Given the description of an element on the screen output the (x, y) to click on. 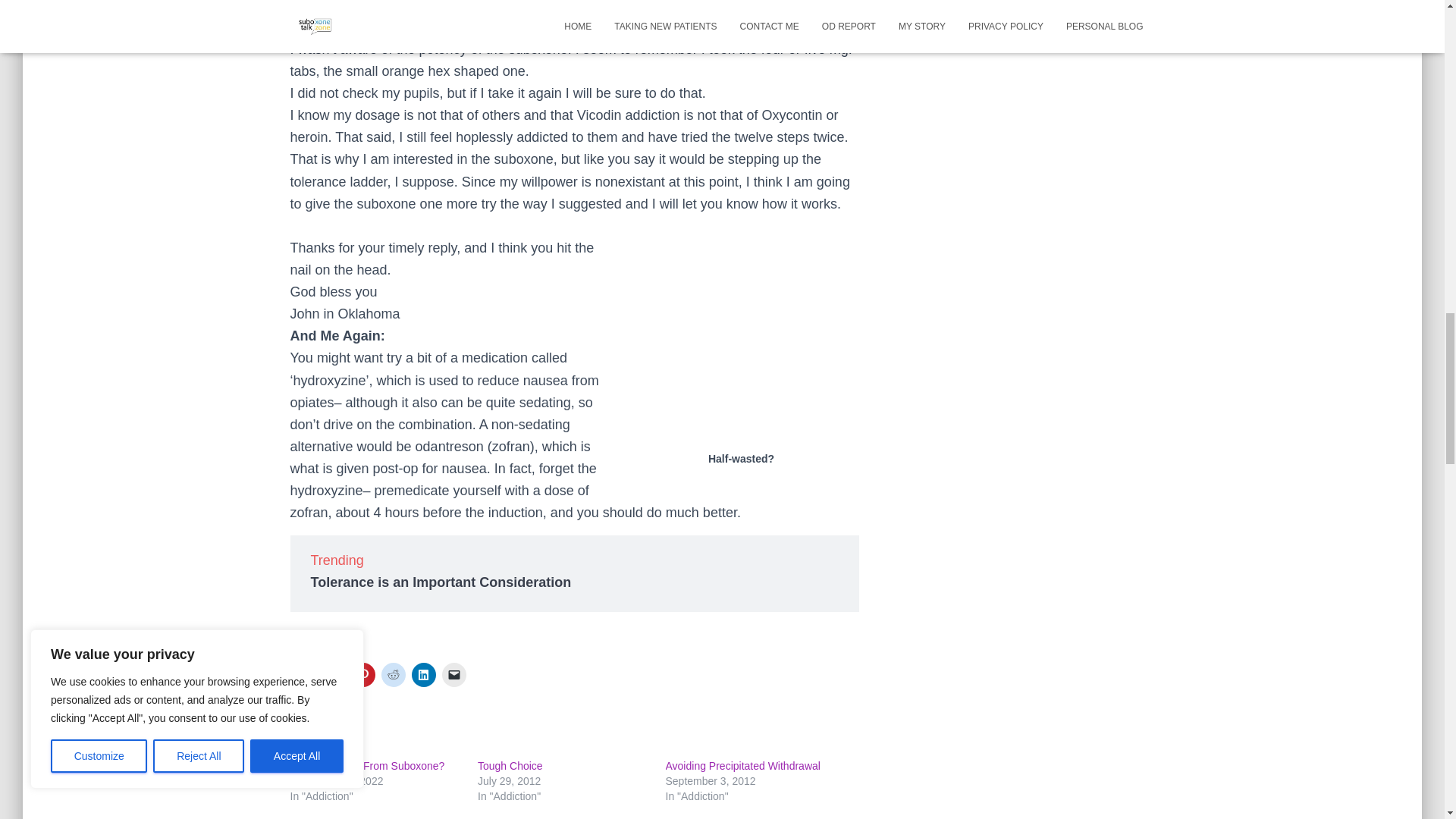
Click to share on Facebook (331, 674)
Can I Get High From Suboxone? (366, 766)
Avoiding Precipitated Withdrawal (743, 766)
Tolerance is an Important Consideration (441, 581)
Tough Choice (510, 766)
half-wasted (744, 329)
Click to share on Twitter (301, 674)
